Given the description of an element on the screen output the (x, y) to click on. 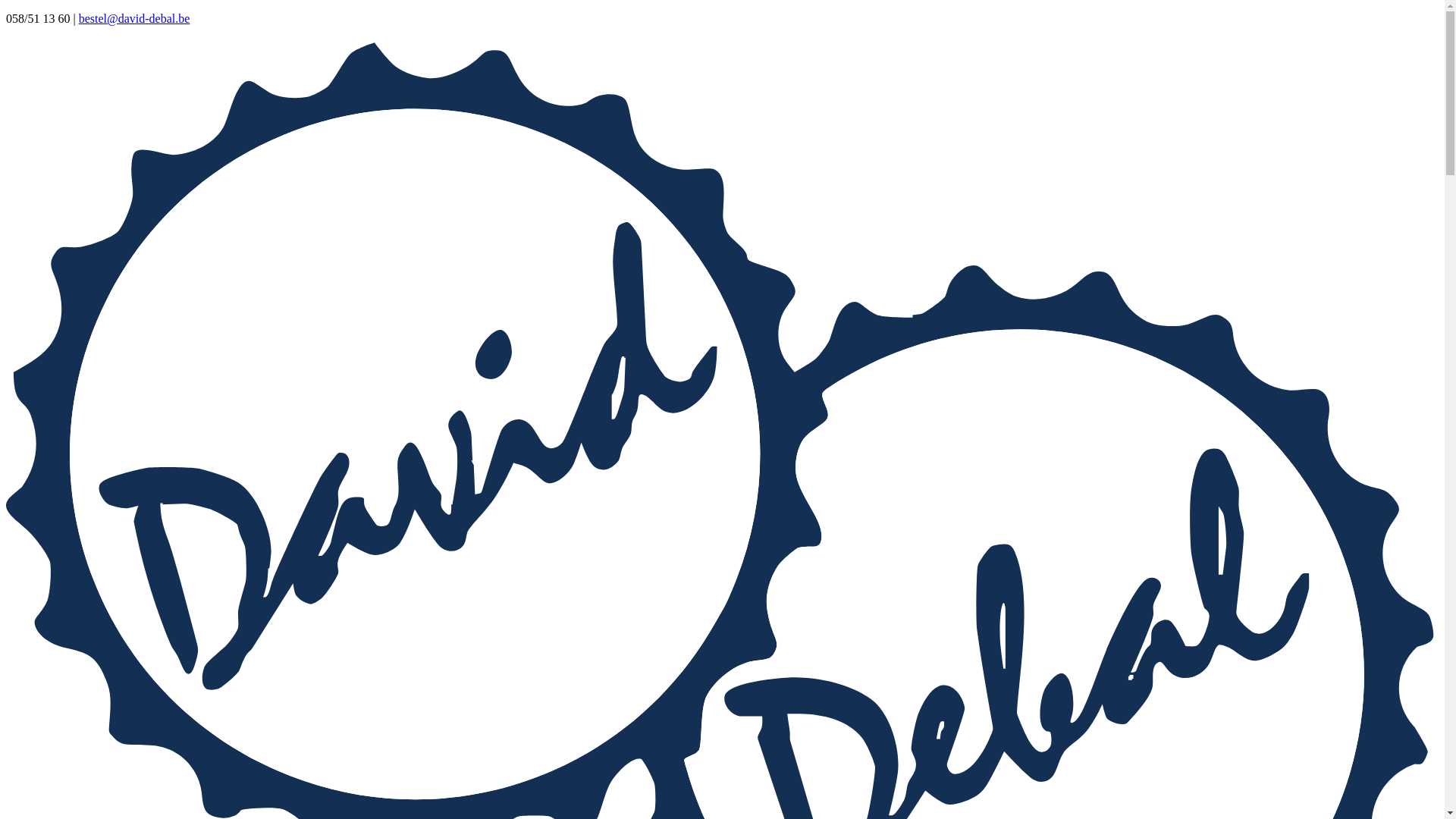
bestel@david-debal.be Element type: text (134, 18)
